Given the description of an element on the screen output the (x, y) to click on. 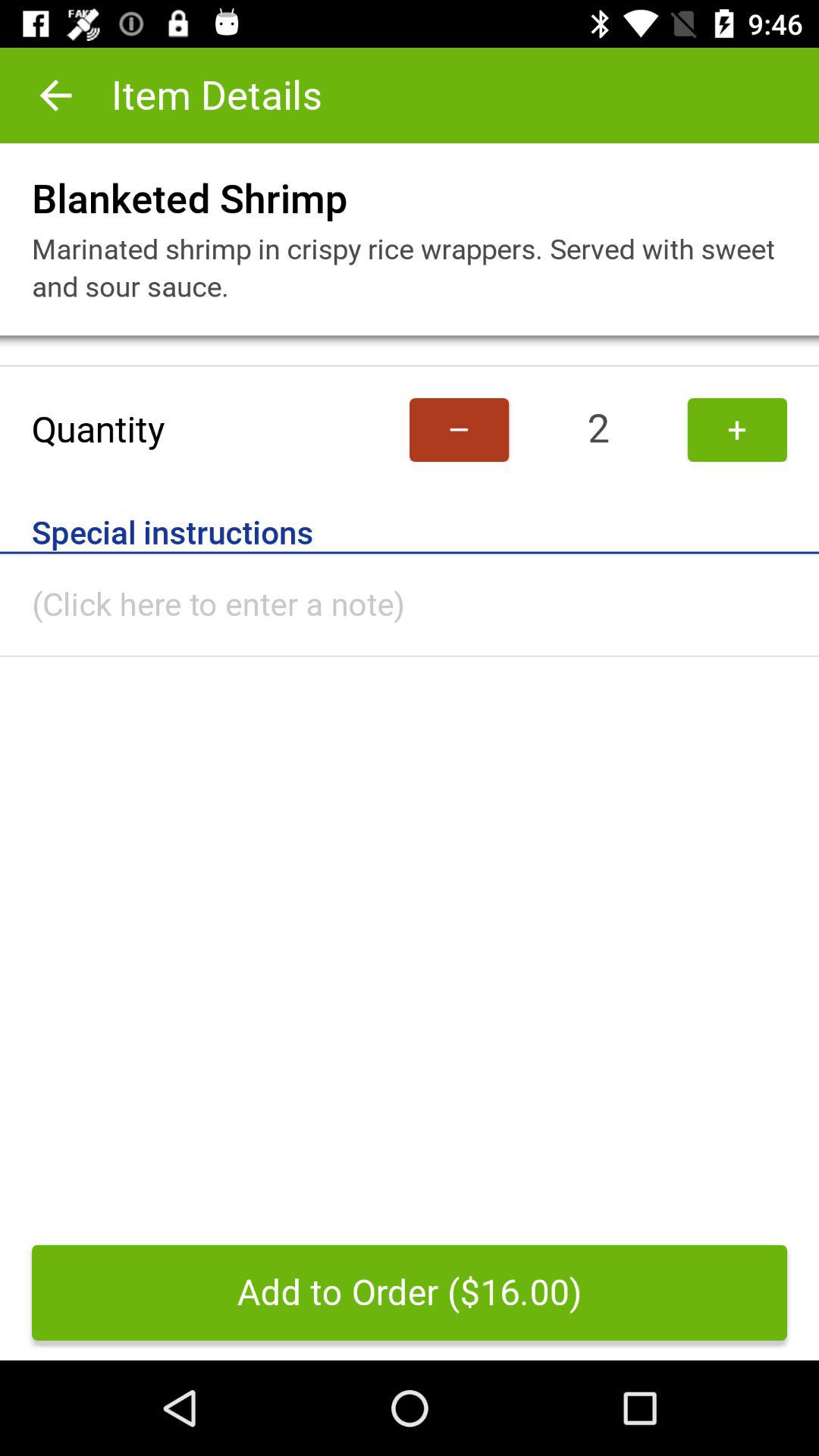
press the icon above the blanketed shrimp icon (55, 95)
